Given the description of an element on the screen output the (x, y) to click on. 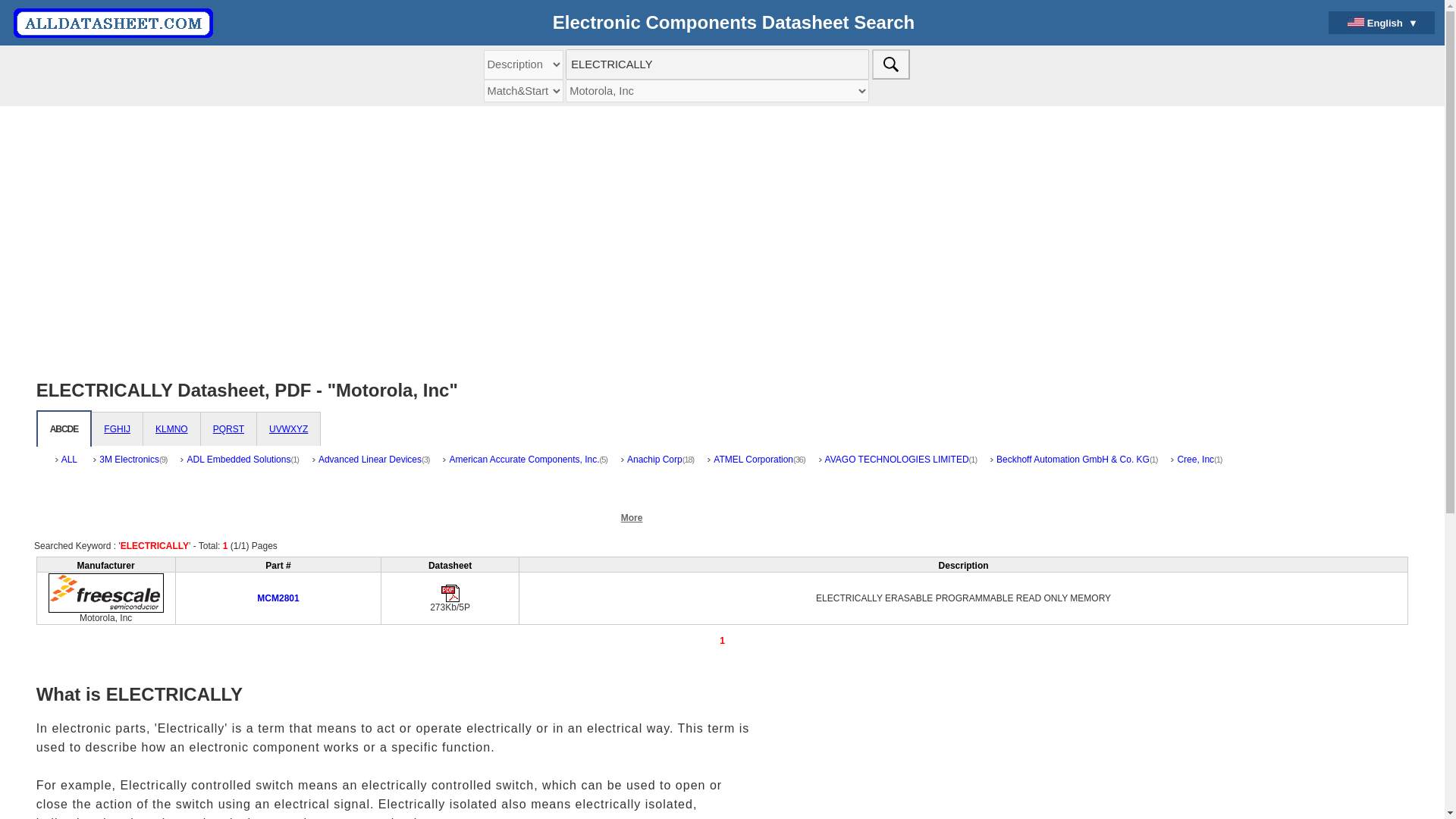
KLMNO (171, 428)
ALL (66, 464)
FGHIJ (116, 428)
ELECTRICALLY (717, 64)
ELECTRICALLY (717, 64)
More (631, 517)
UVWXYZ (288, 428)
ABCDE (63, 428)
PQRST (228, 428)
